Given the description of an element on the screen output the (x, y) to click on. 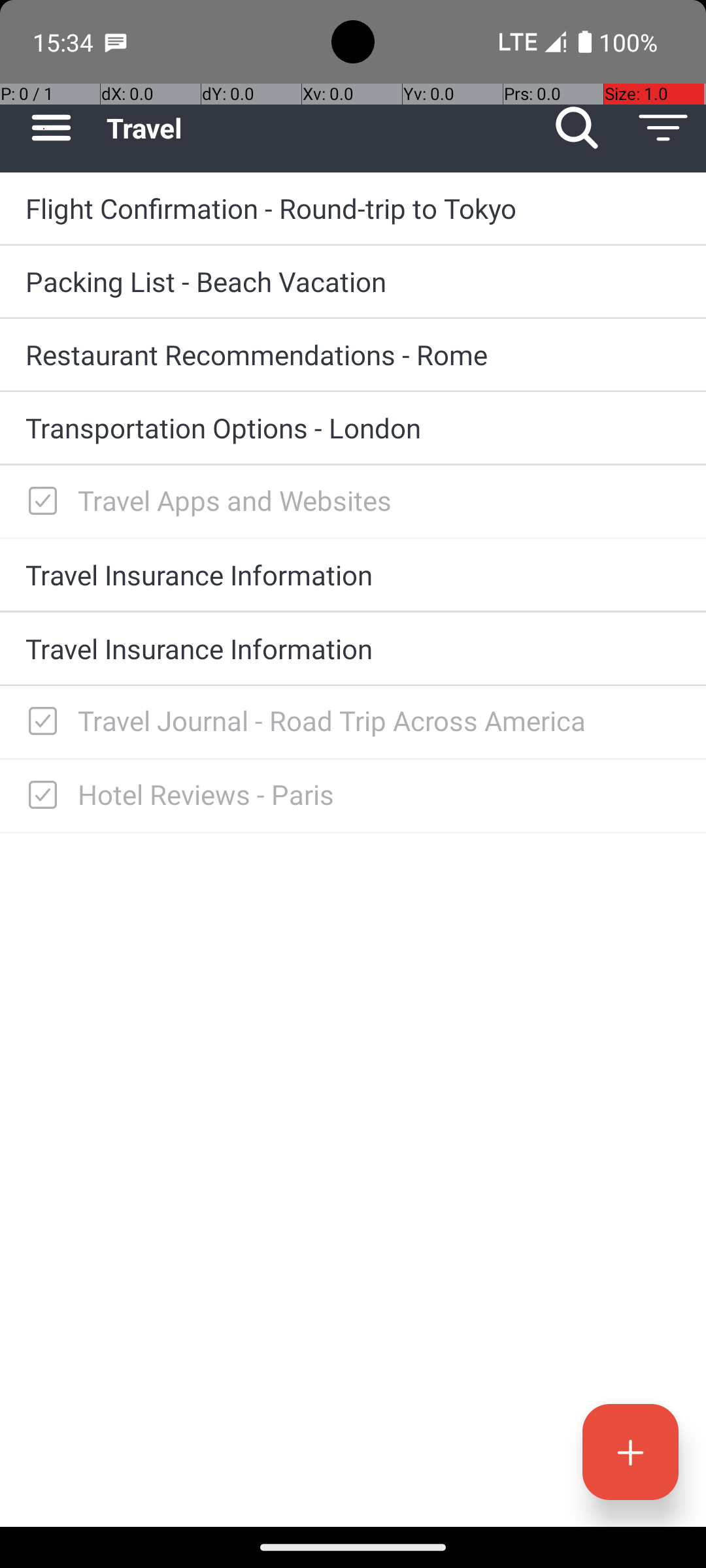
Flight Confirmation - Round-trip to Tokyo Element type: android.widget.TextView (352, 207)
Packing List - Beach Vacation Element type: android.widget.TextView (352, 280)
Transportation Options - London Element type: android.widget.TextView (352, 427)
to-do: Travel Apps and Websites Element type: android.widget.CheckBox (38, 501)
Travel Apps and Websites Element type: android.widget.TextView (378, 499)
Travel Insurance Information Element type: android.widget.TextView (352, 574)
to-do: Travel Journal - Road Trip Across America Element type: android.widget.CheckBox (38, 722)
Travel Journal - Road Trip Across America Element type: android.widget.TextView (378, 719)
to-do: Hotel Reviews - Paris Element type: android.widget.CheckBox (38, 795)
Hotel Reviews - Paris Element type: android.widget.TextView (378, 793)
